Given the description of an element on the screen output the (x, y) to click on. 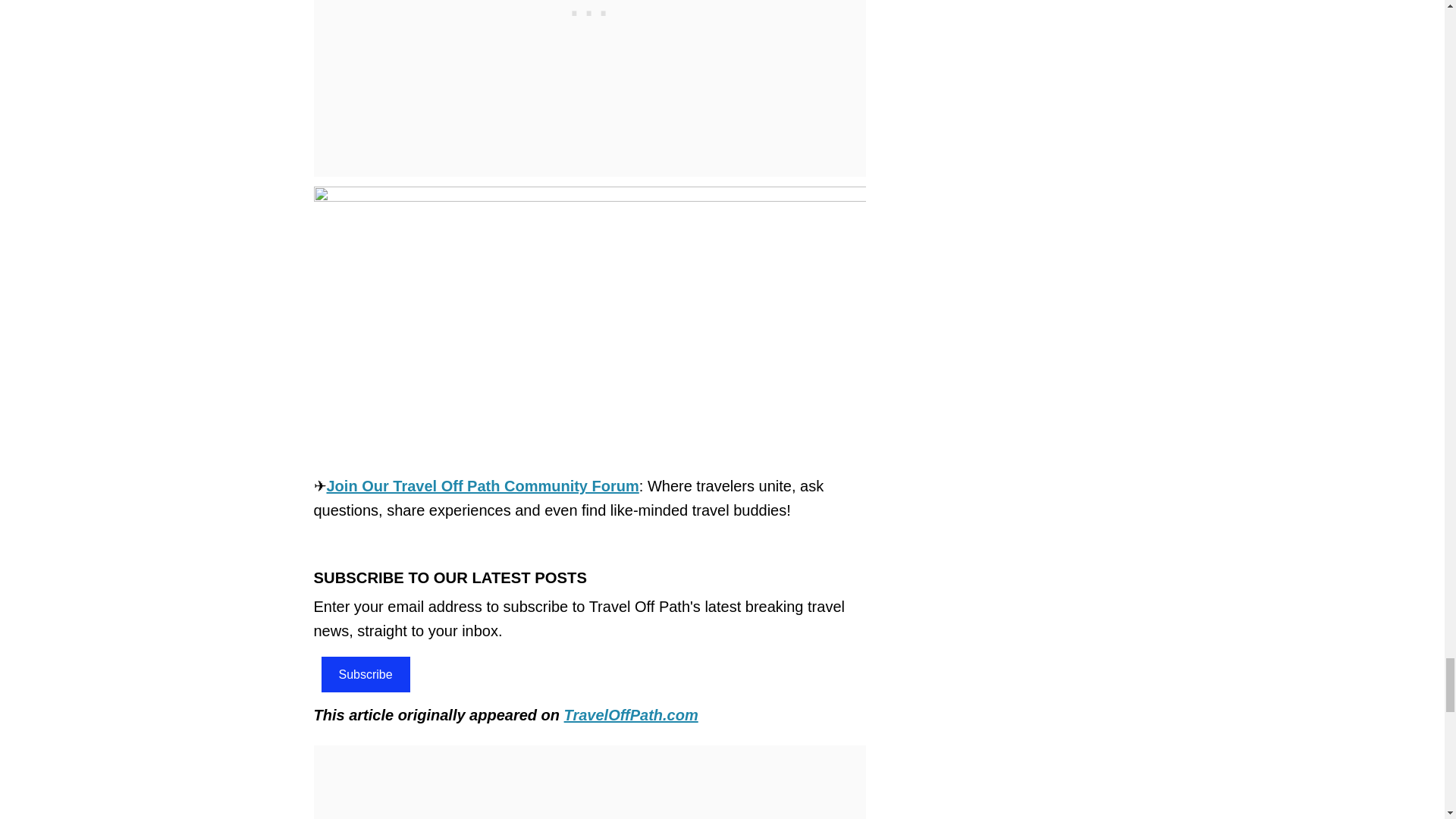
Subscribe (365, 674)
TravelOffPath.com (631, 714)
Join Our Travel Off Path Community Forum (482, 485)
